Given the description of an element on the screen output the (x, y) to click on. 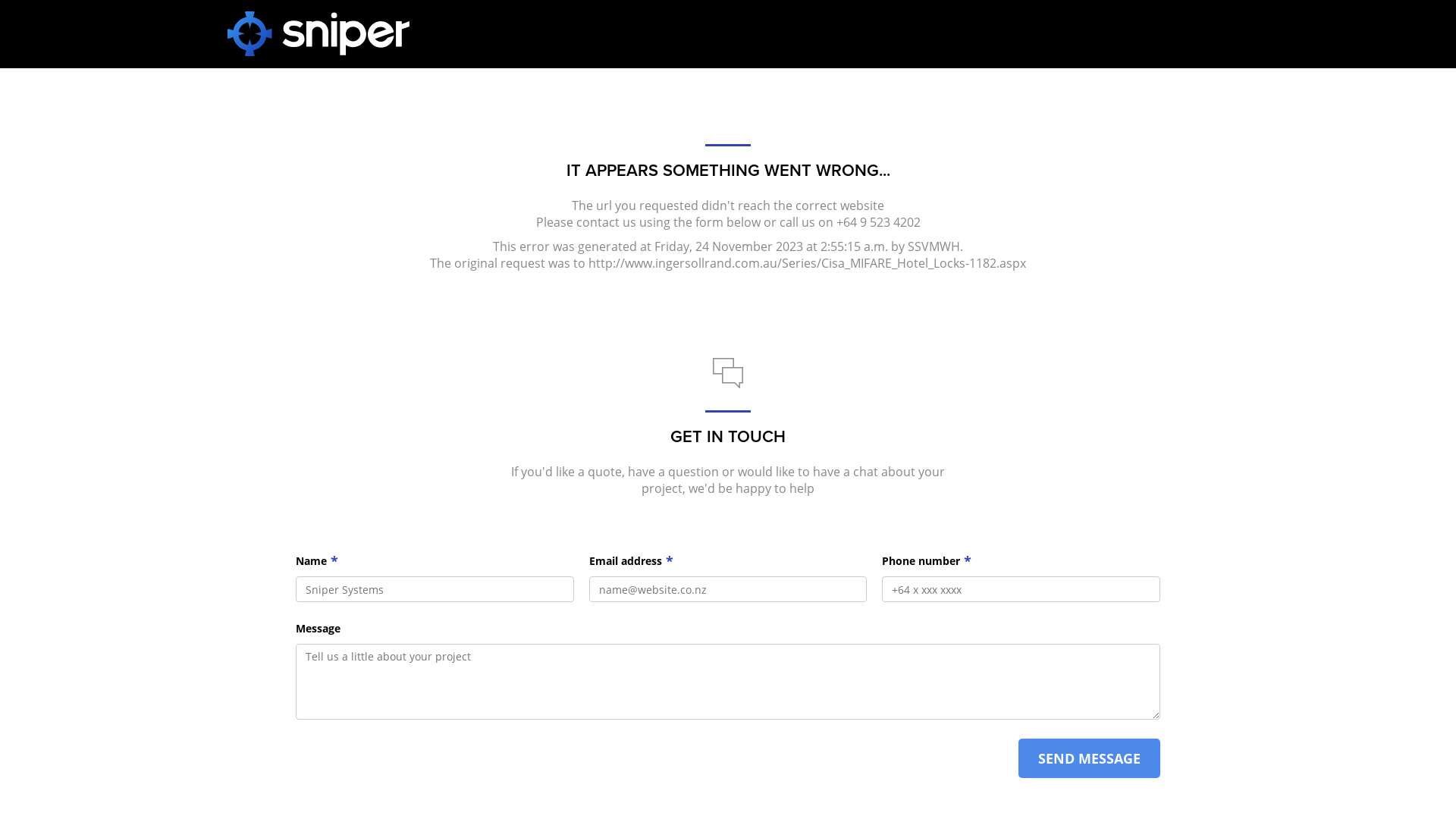
SEND MESSAGE Element type: text (1089, 758)
